Given the description of an element on the screen output the (x, y) to click on. 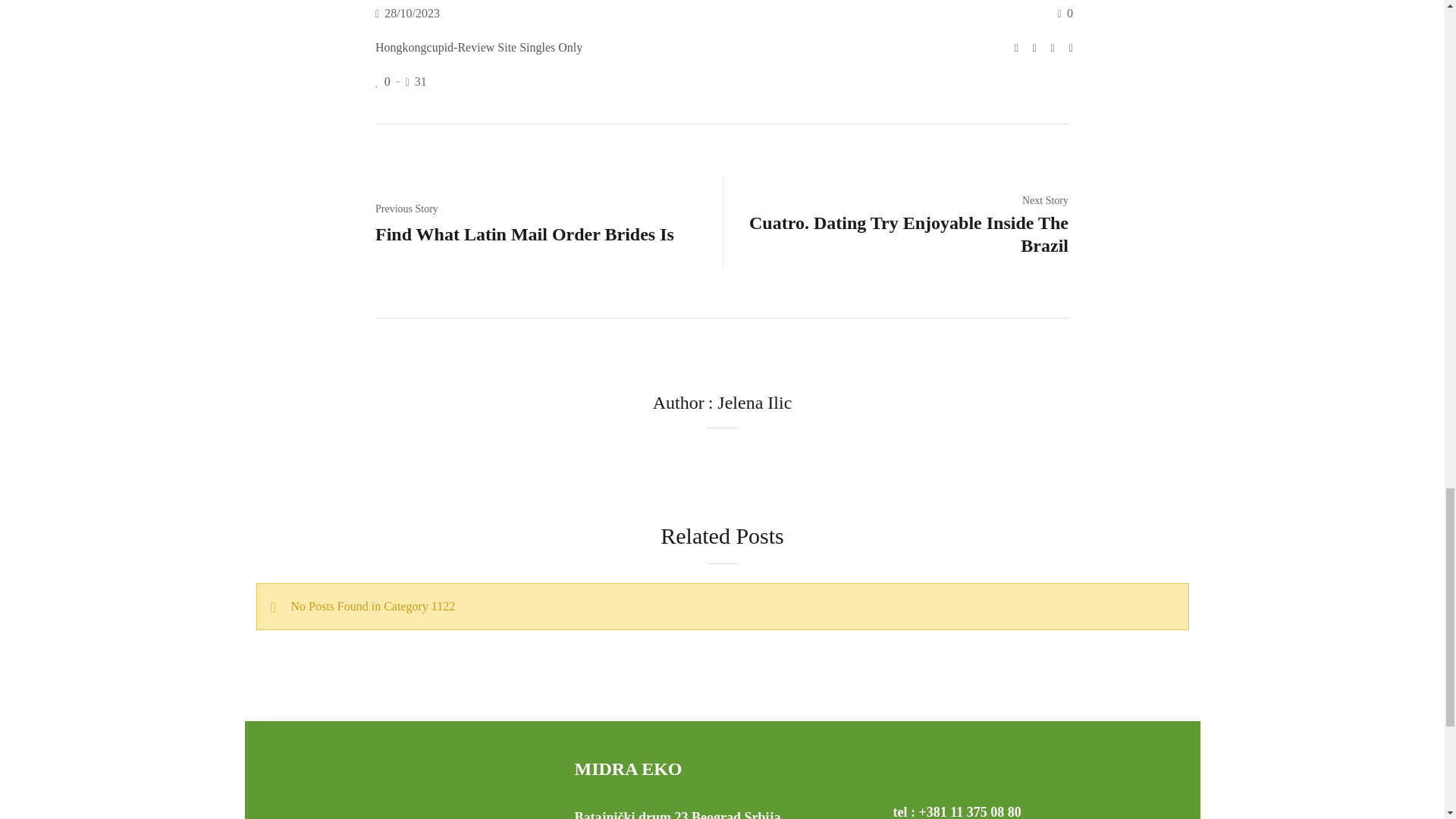
Jelena Ilic (754, 402)
cuatro. Dating try Enjoyable inside the Brazil (902, 234)
Find What Latin Mail Order Brides Is (524, 233)
Find What Latin Mail Order Brides Is (524, 233)
Cuatro. Dating Try Enjoyable Inside The Brazil (902, 234)
Hongkongcupid-Review Site Singles Only (478, 47)
